Given the description of an element on the screen output the (x, y) to click on. 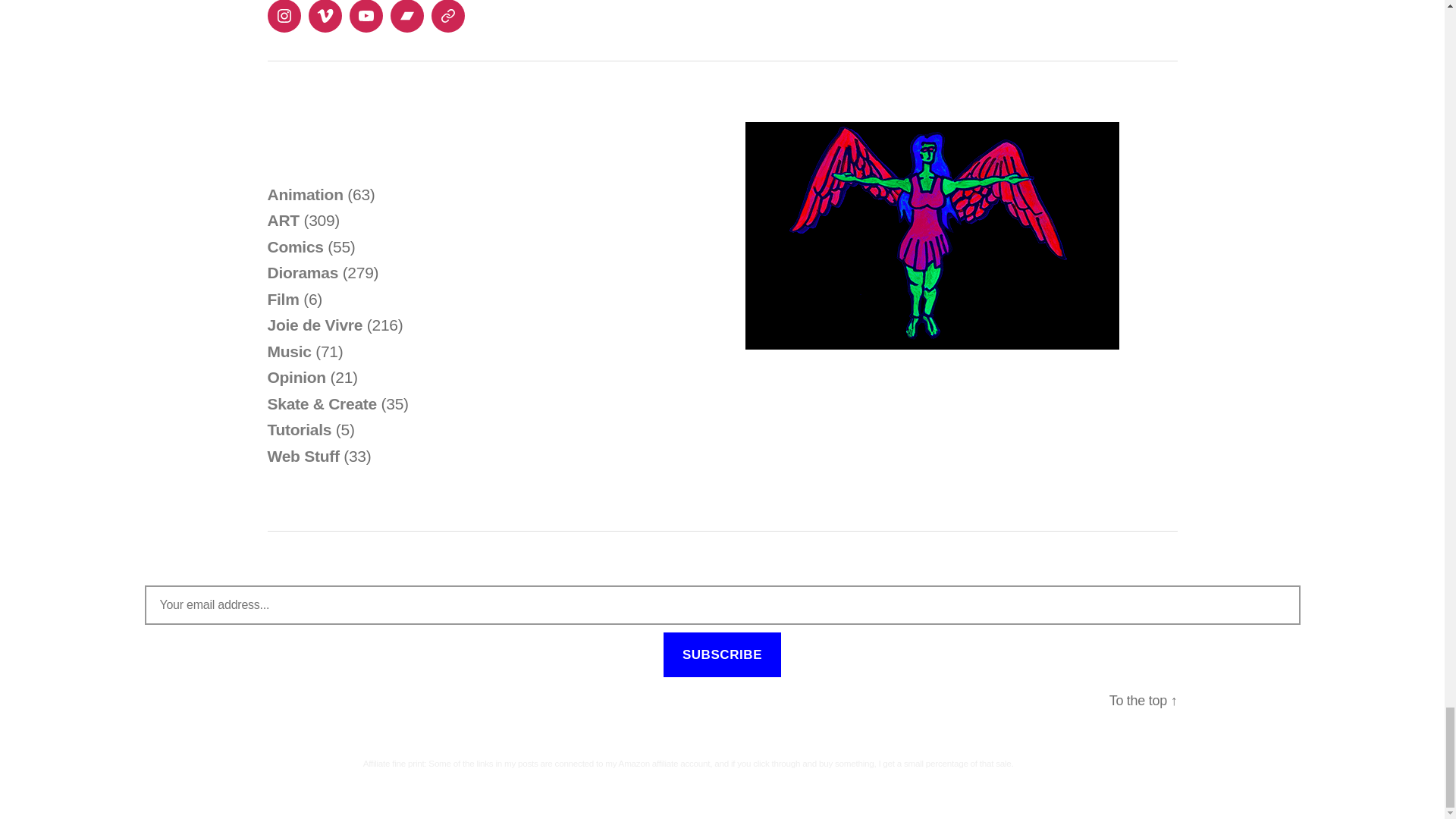
Subscribe (721, 654)
